Given the description of an element on the screen output the (x, y) to click on. 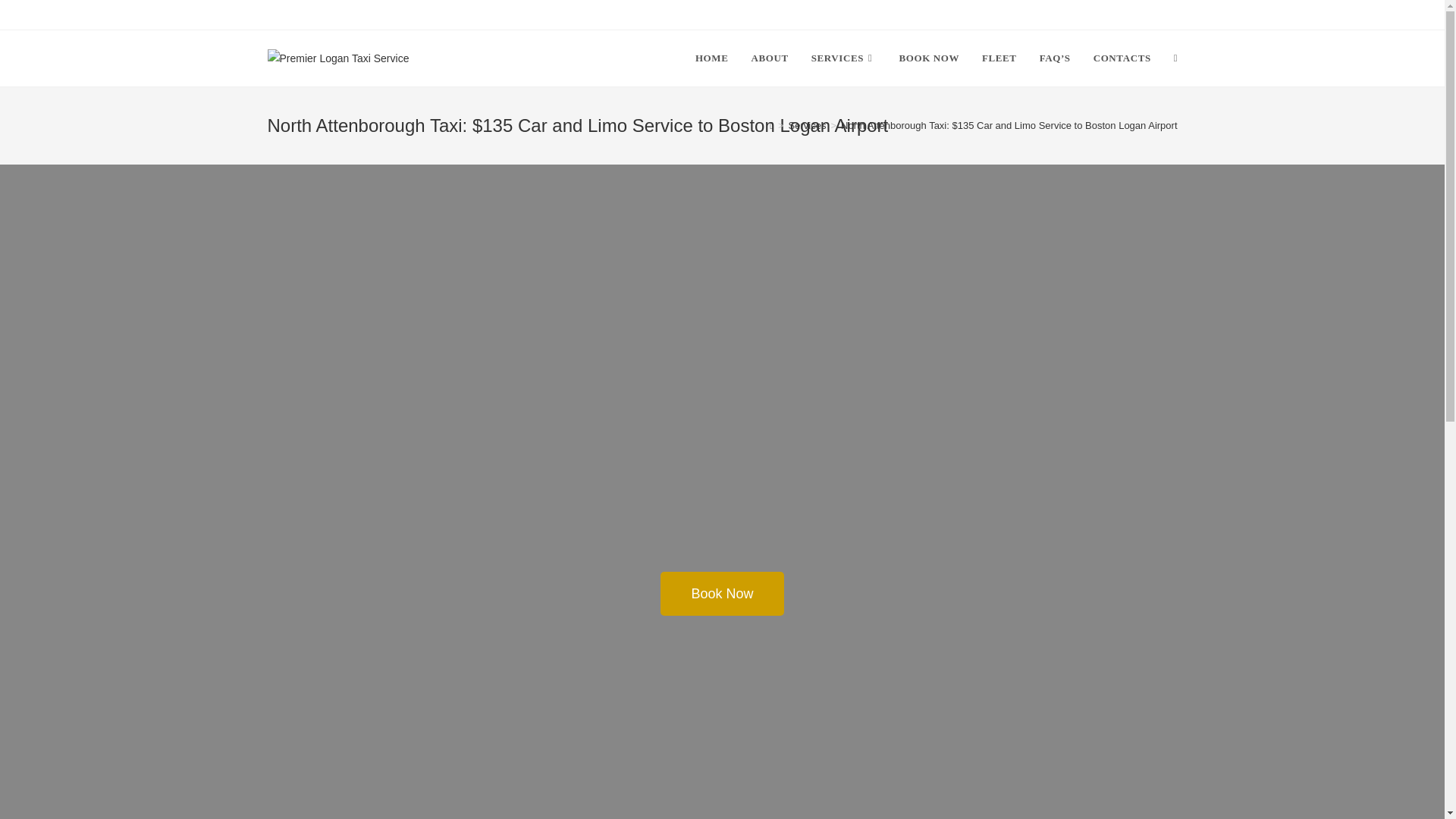
FLEET (999, 58)
HOME (711, 58)
SERVICES (843, 58)
CONTACTS (1121, 58)
Book Now (722, 593)
BOOK NOW (928, 58)
ABOUT (769, 58)
Services (808, 125)
